Given the description of an element on the screen output the (x, y) to click on. 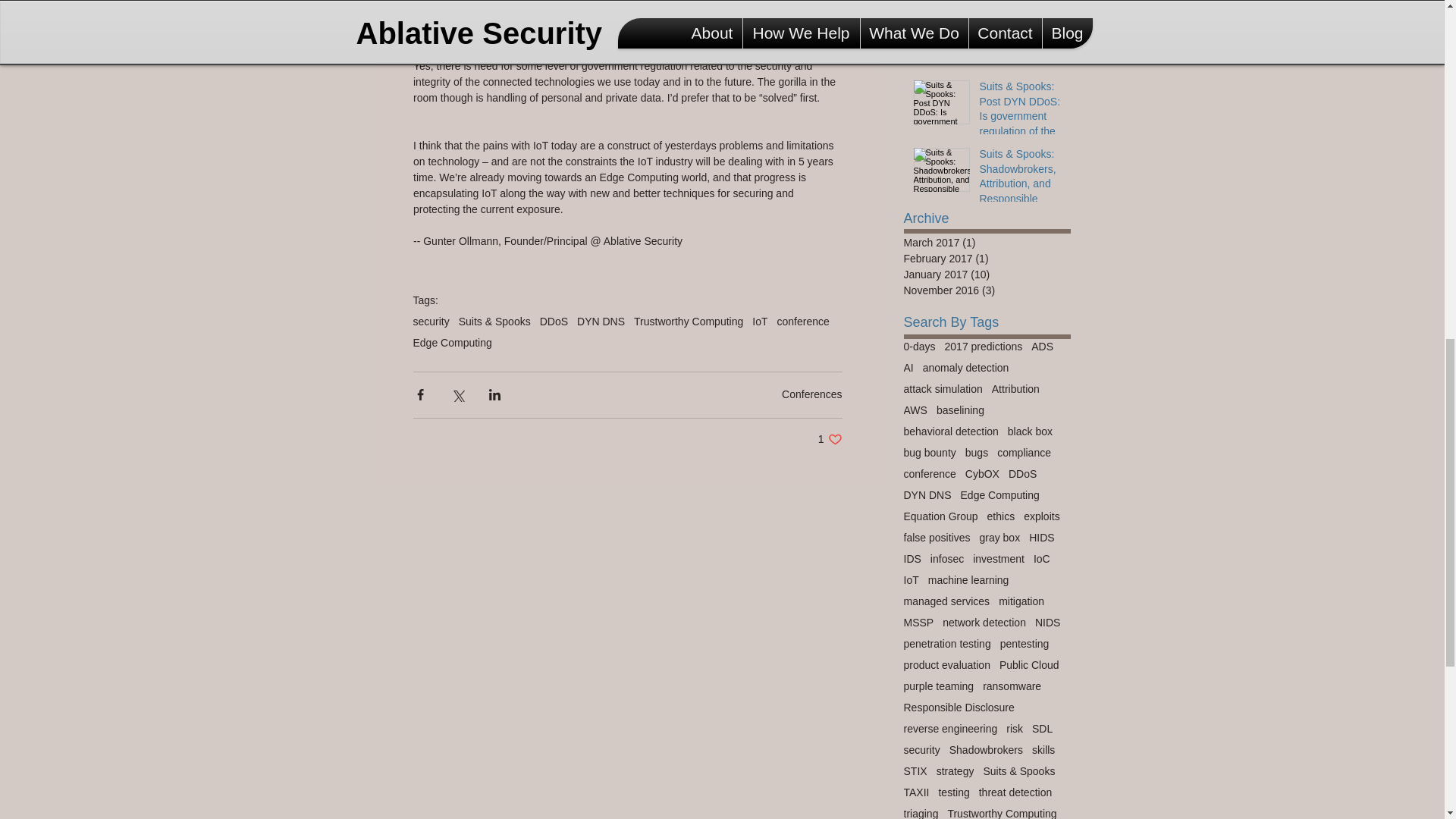
conference (802, 321)
From Anomaly, to Behavior, and on to Learning Systems (1020, 52)
Conferences (830, 439)
0-days (811, 394)
IoT (920, 345)
Trustworthy Computing (759, 321)
Edge Computing (687, 321)
DYN DNS (452, 342)
DDoS (600, 321)
